Given the description of an element on the screen output the (x, y) to click on. 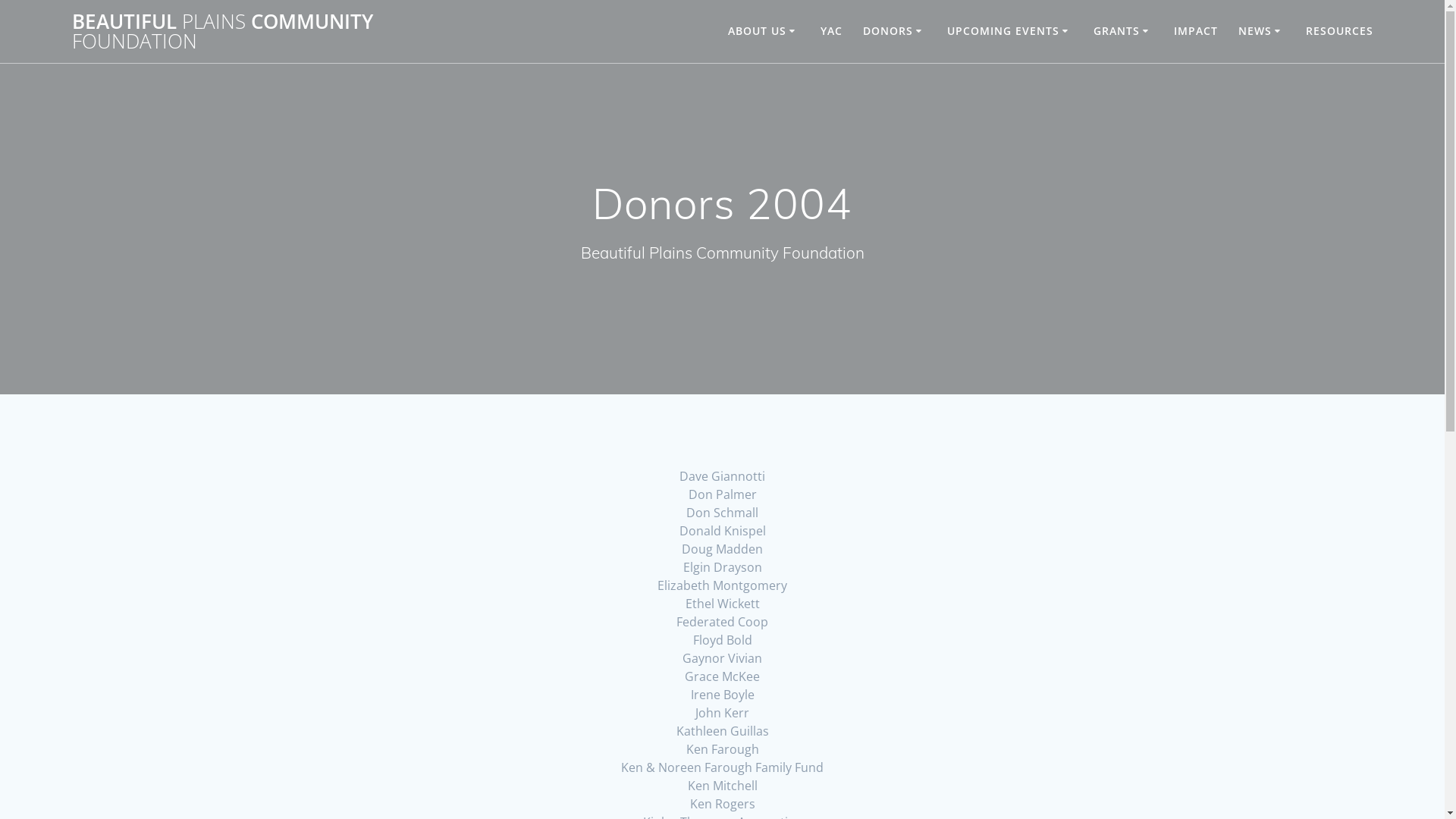
DONORS Element type: text (894, 30)
UPCOMING EVENTS Element type: text (1010, 30)
IMPACT Element type: text (1195, 30)
GRANTS Element type: text (1123, 30)
ABOUT US Element type: text (764, 30)
YAC Element type: text (831, 30)
NEWS Element type: text (1261, 30)
BEAUTIFUL PLAINS COMMUNITY FOUNDATION Element type: text (258, 31)
RESOURCES Element type: text (1339, 30)
